Given the description of an element on the screen output the (x, y) to click on. 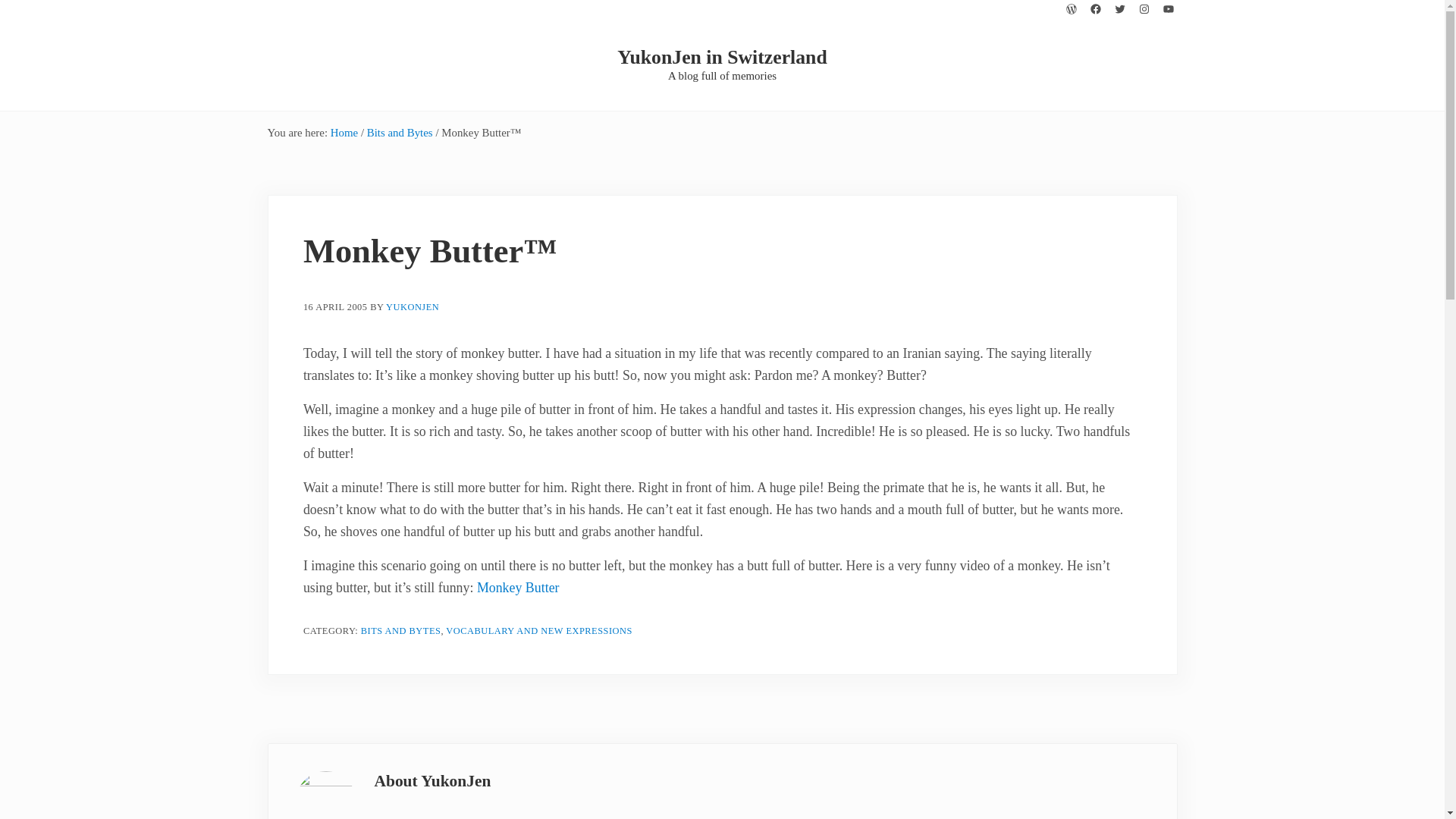
Twitter (1118, 9)
YUKONJEN (412, 307)
Monkey Butter (518, 587)
Facebook (1094, 9)
YouTube (1167, 9)
Bits and Bytes (399, 132)
WordPress (1070, 9)
YukonJen in Switzerland (722, 56)
Home (344, 132)
BITS AND BYTES (401, 630)
VOCABULARY AND NEW EXPRESSIONS (538, 630)
Instagram (1143, 9)
